Given the description of an element on the screen output the (x, y) to click on. 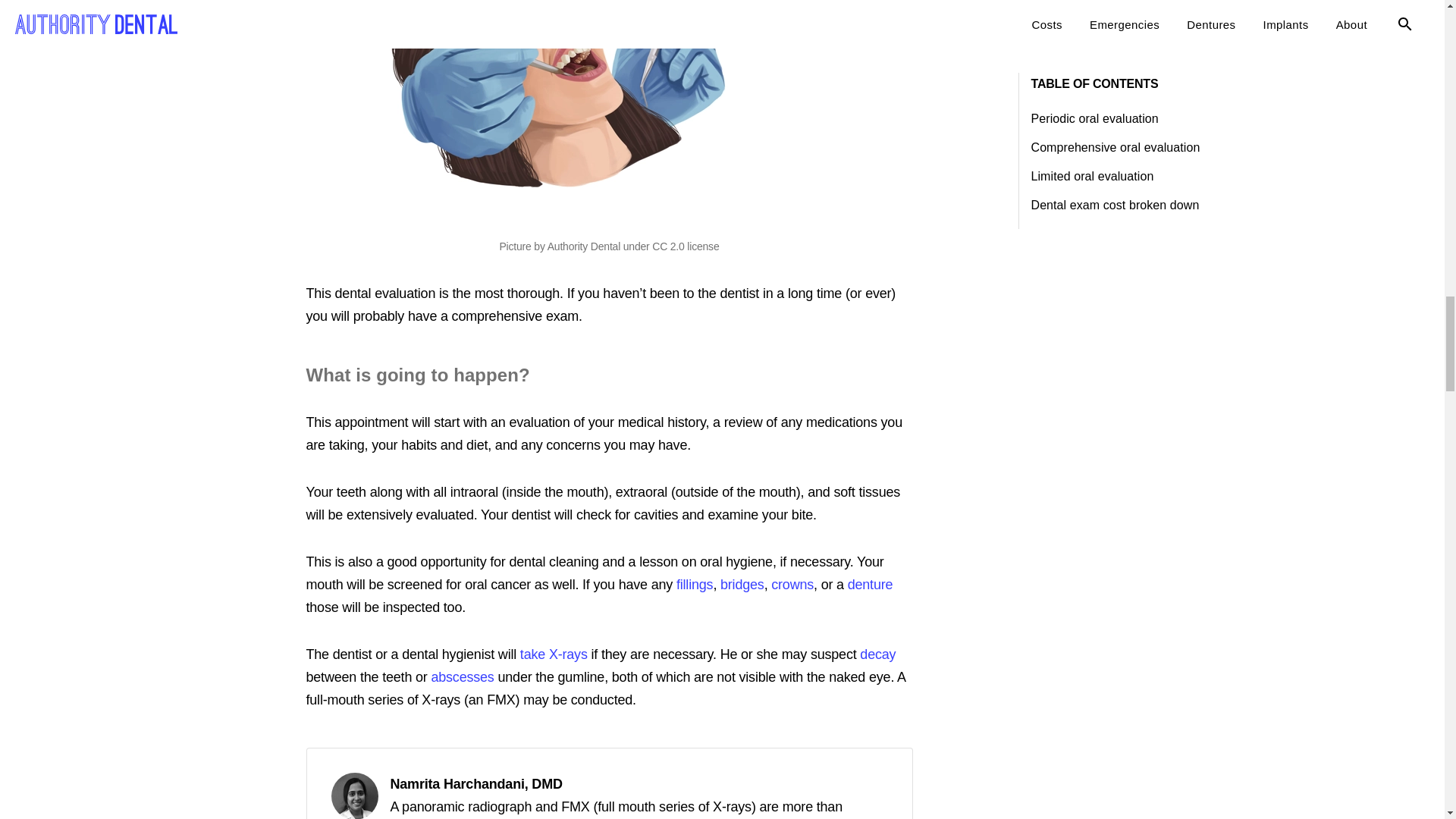
bridges (742, 584)
fillings (695, 584)
decay (877, 654)
Picture (515, 246)
crowns (792, 584)
denture (870, 584)
CC 2.0 license (685, 246)
take X-rays (553, 654)
abscesses (461, 676)
Authority Dental (583, 246)
